Given the description of an element on the screen output the (x, y) to click on. 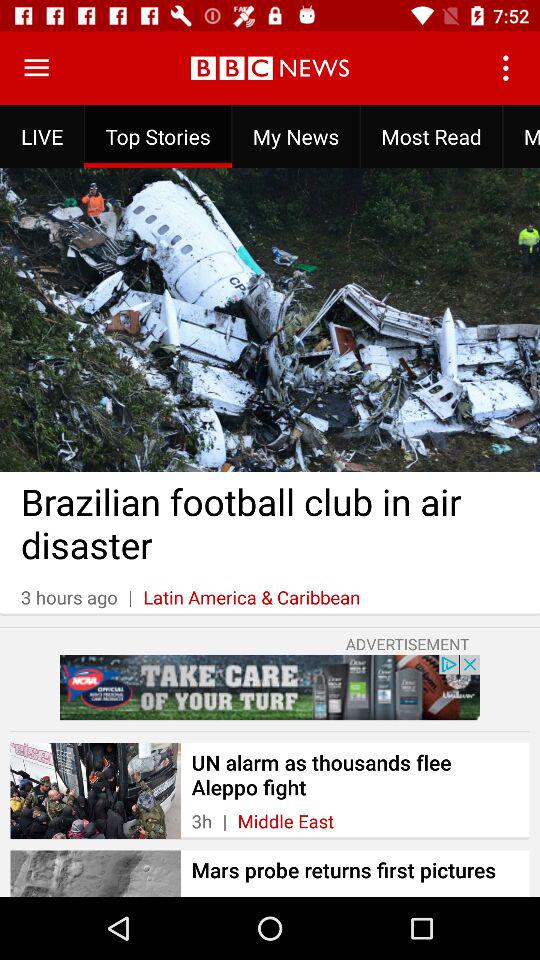
menu (36, 68)
